Given the description of an element on the screen output the (x, y) to click on. 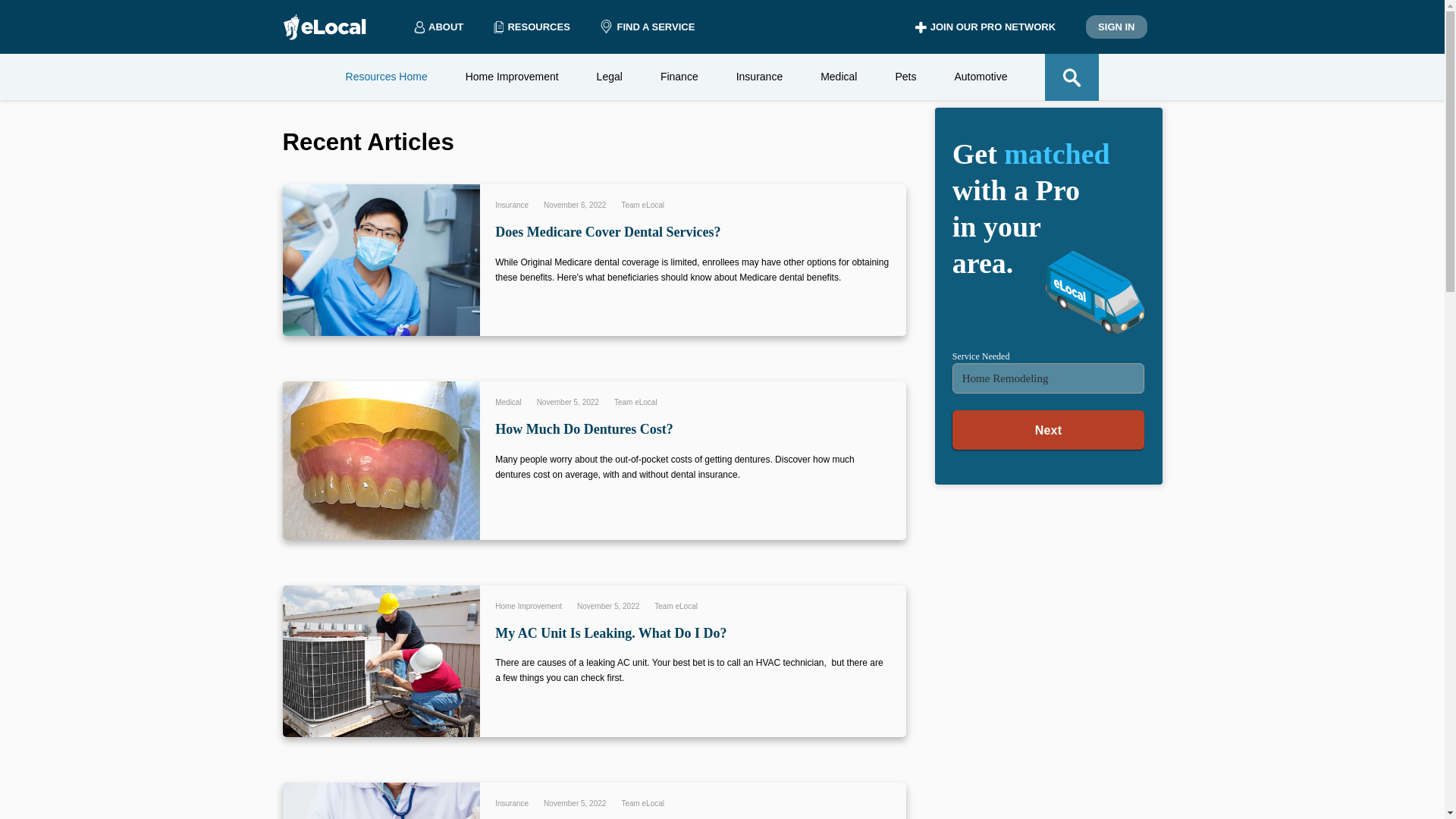
FIND A SERVICE (646, 27)
Home Remodeling (1048, 378)
SIGN IN (1116, 27)
